Given the description of an element on the screen output the (x, y) to click on. 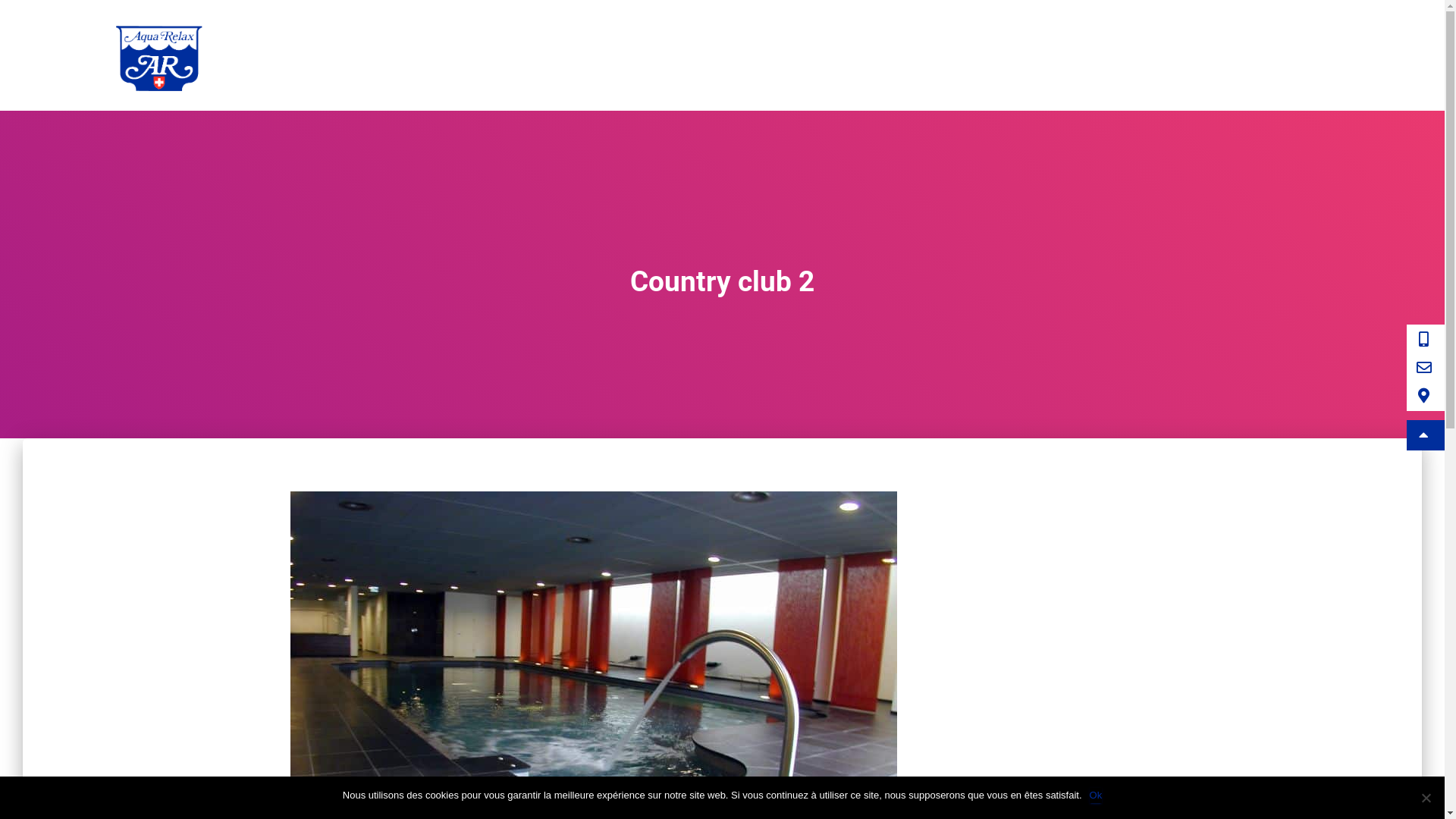
Wellness Element type: text (1101, 54)
Non Element type: hover (1425, 797)
Accueil Element type: text (736, 54)
Country club 2 Element type: hover (592, 717)
Ok Element type: text (1095, 795)
Contact Element type: text (1327, 54)
Piscine publique Element type: text (980, 54)
